Given the description of an element on the screen output the (x, y) to click on. 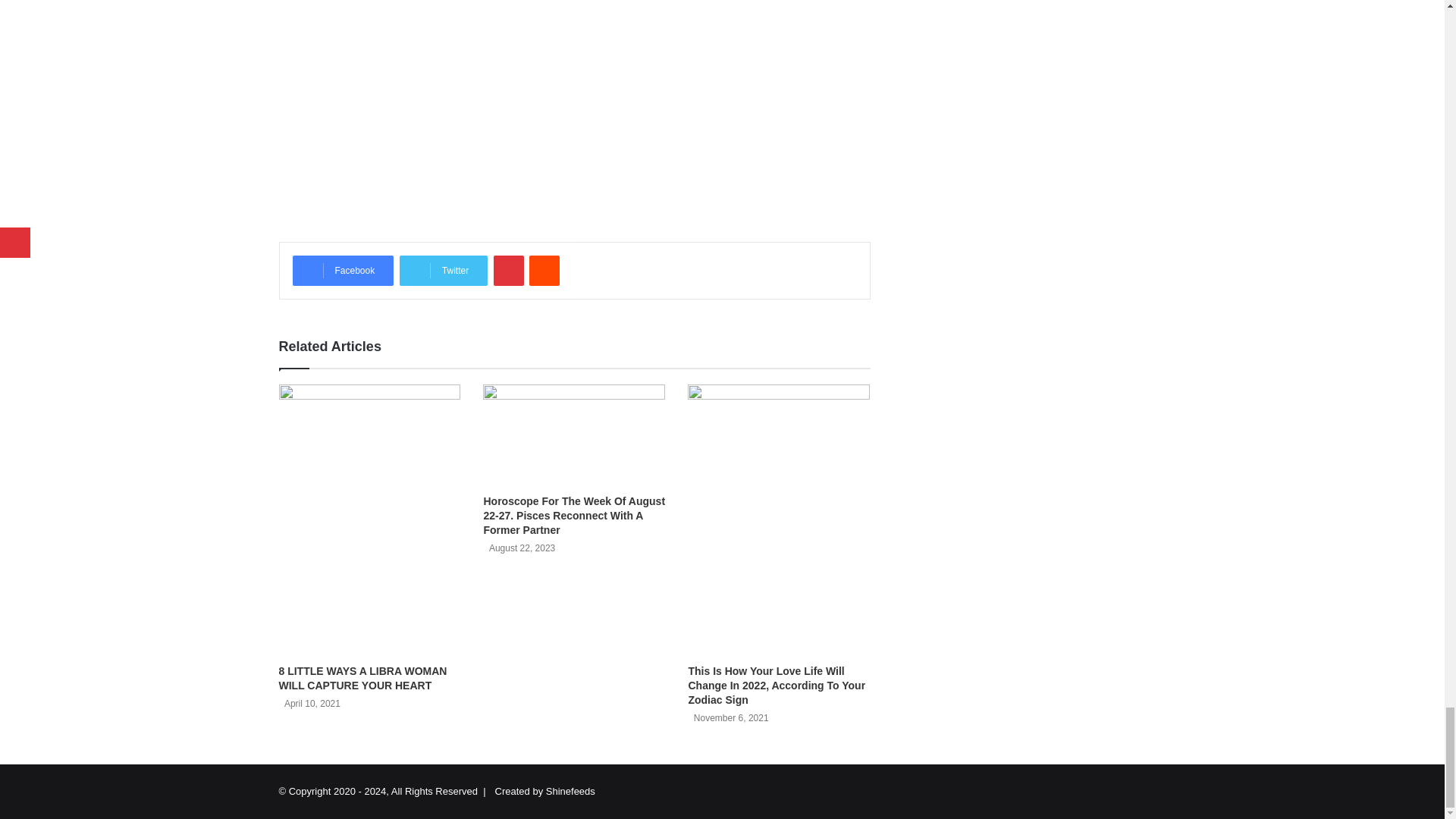
Facebook (343, 270)
Twitter (442, 270)
Facebook (343, 270)
Twitter (442, 270)
8 LITTLE WAYS A LIBRA WOMAN WILL CAPTURE YOUR HEART (362, 678)
Pinterest (508, 270)
Pinterest (508, 270)
Reddit (544, 270)
